Given the description of an element on the screen output the (x, y) to click on. 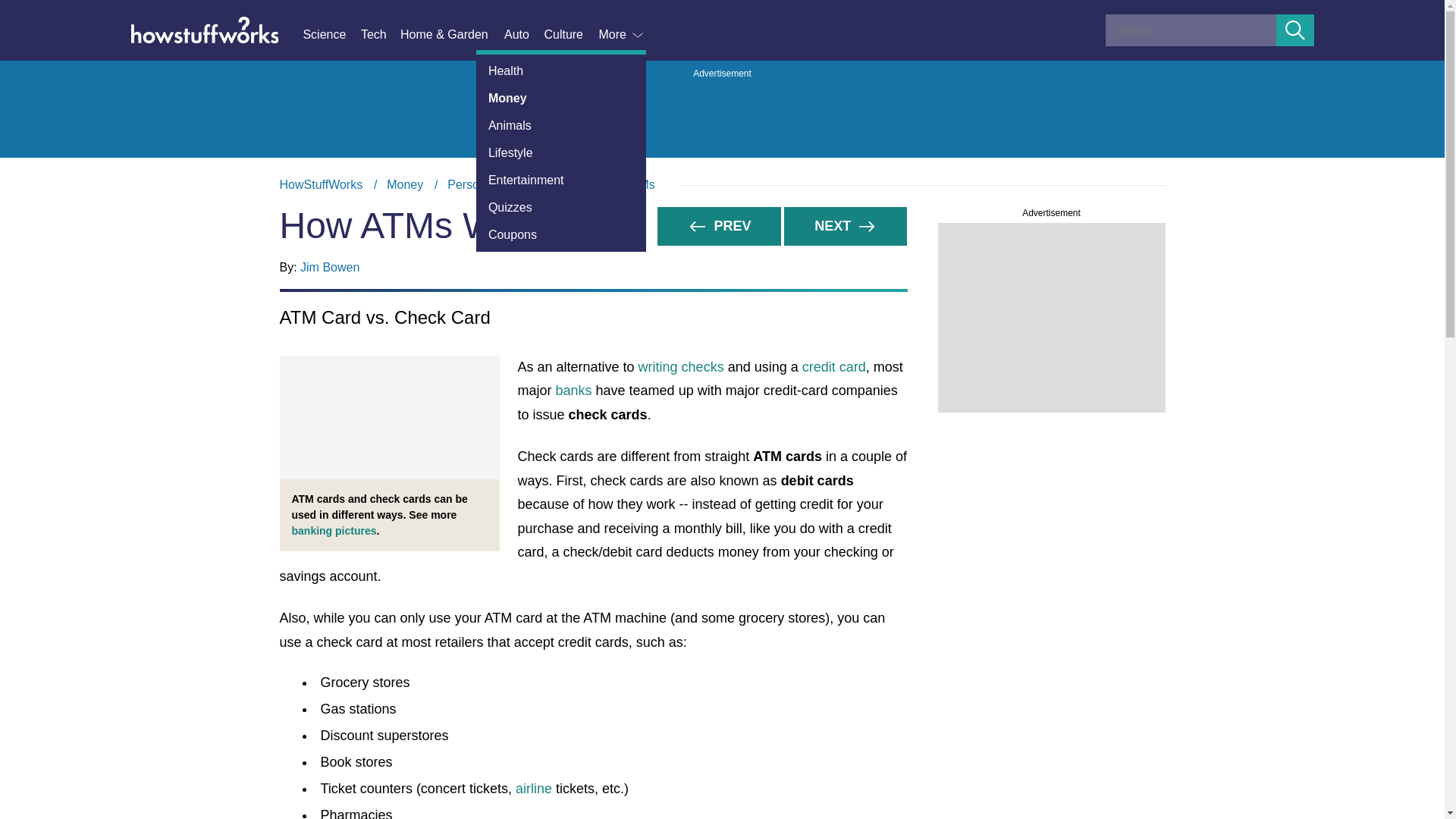
Science (330, 34)
Coupons (561, 234)
More (621, 34)
Auto (523, 34)
Money (561, 98)
Personal Finance (493, 184)
HowStuffWorks (320, 184)
Health (561, 71)
Entertainment (561, 180)
Submit Search (1295, 29)
Animals (561, 125)
Tech (380, 34)
Lifestyle (561, 153)
Quizzes (561, 207)
Culture (570, 34)
